Given the description of an element on the screen output the (x, y) to click on. 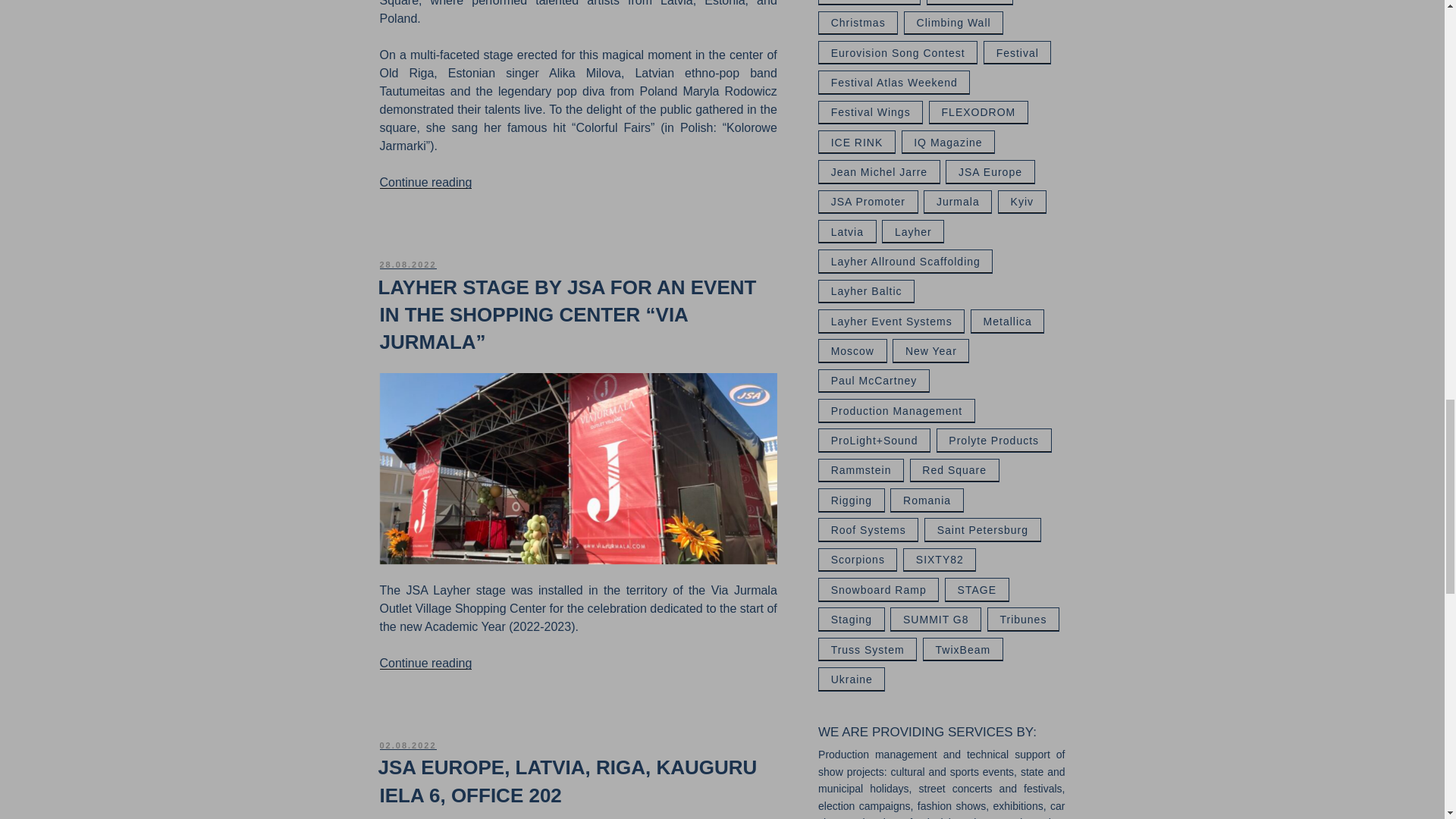
02.08.2022 (406, 745)
28.08.2022 (406, 264)
JSA EUROPE, LATVIA, RIGA, KAUGURU IELA 6, OFFICE 202 (567, 780)
